Given the description of an element on the screen output the (x, y) to click on. 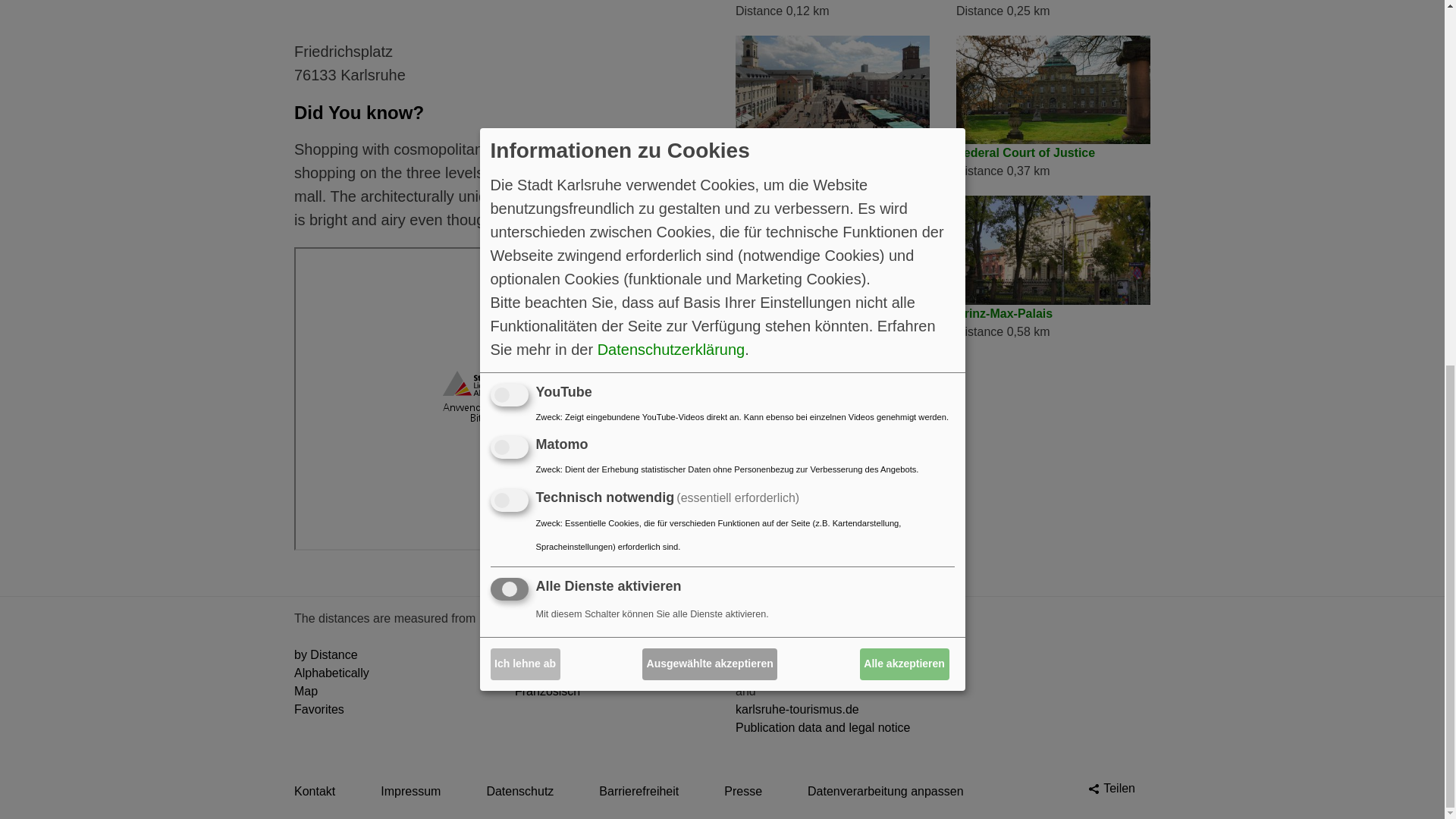
Weiter (677, 8)
